Given the description of an element on the screen output the (x, y) to click on. 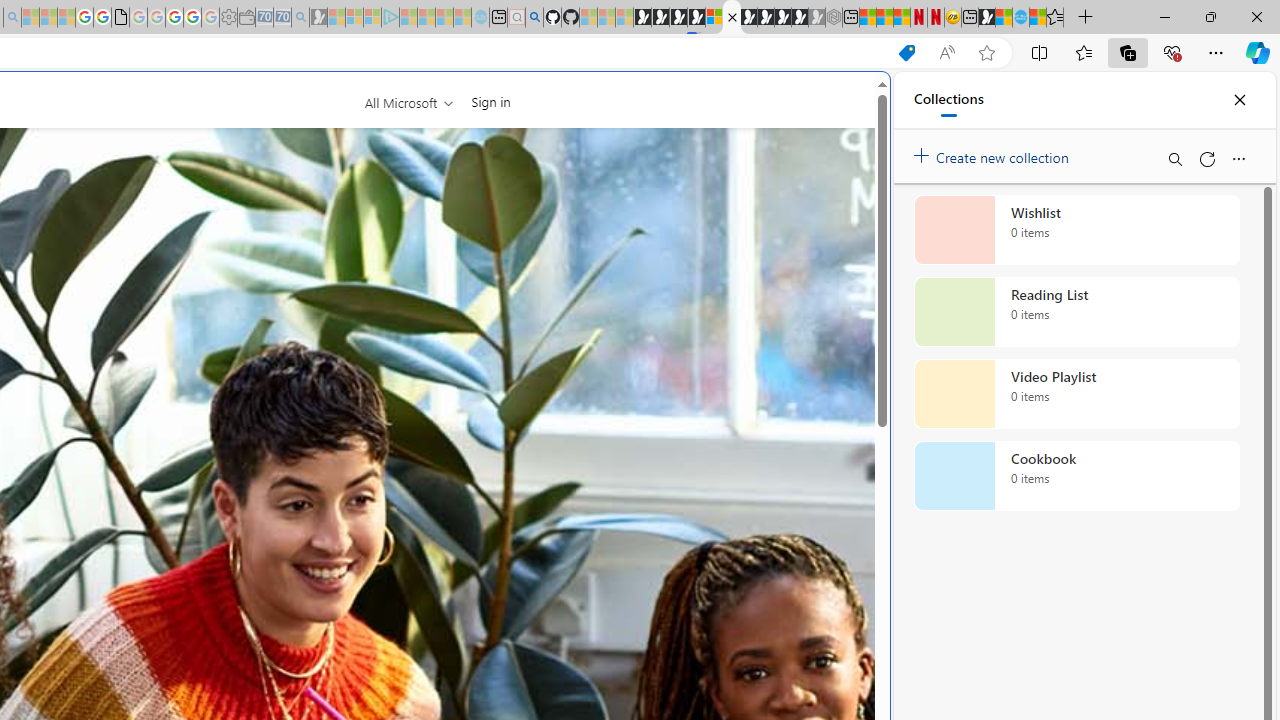
Sign in to your account (714, 17)
Video Playlist collection, 0 items (1076, 394)
Close split screen (844, 102)
Wishlist collection, 0 items (1076, 229)
